Given the description of an element on the screen output the (x, y) to click on. 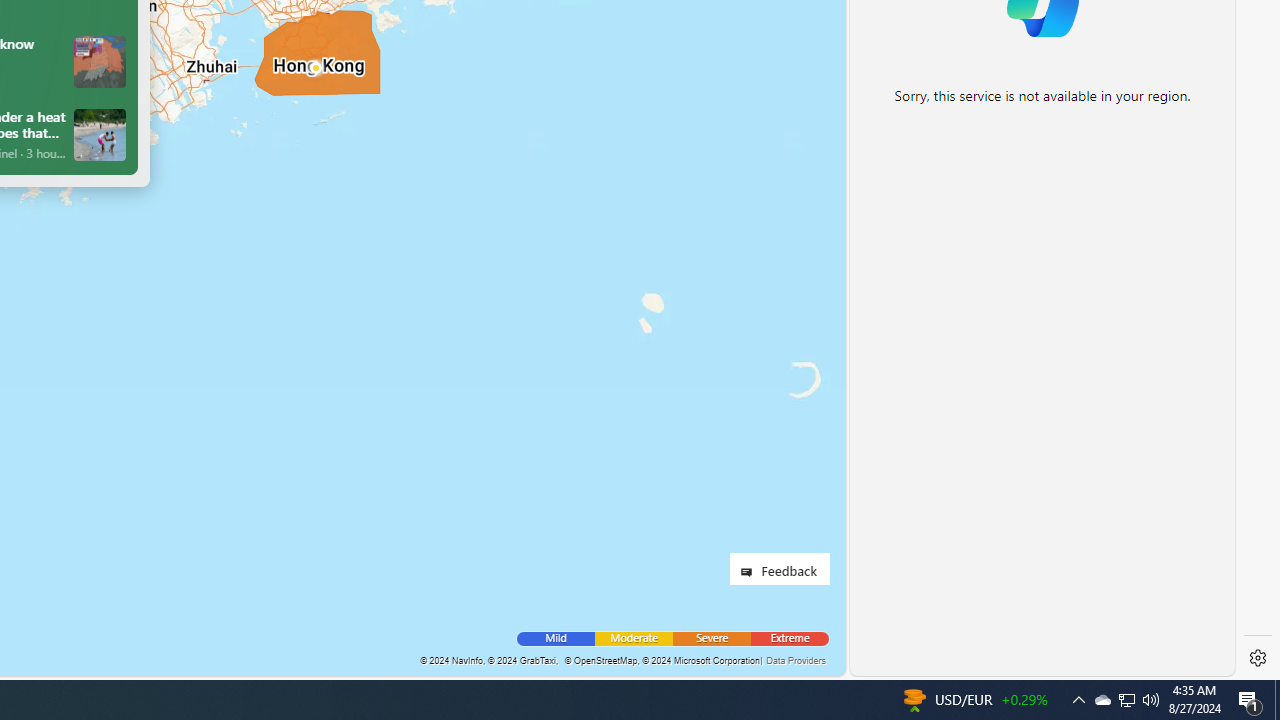
Data Providers (795, 660)
Class: feedback_link_icon-DS-EntryPoint1-1 (749, 571)
What Hoosiers need to know about heat wave (99, 61)
